Given the description of an element on the screen output the (x, y) to click on. 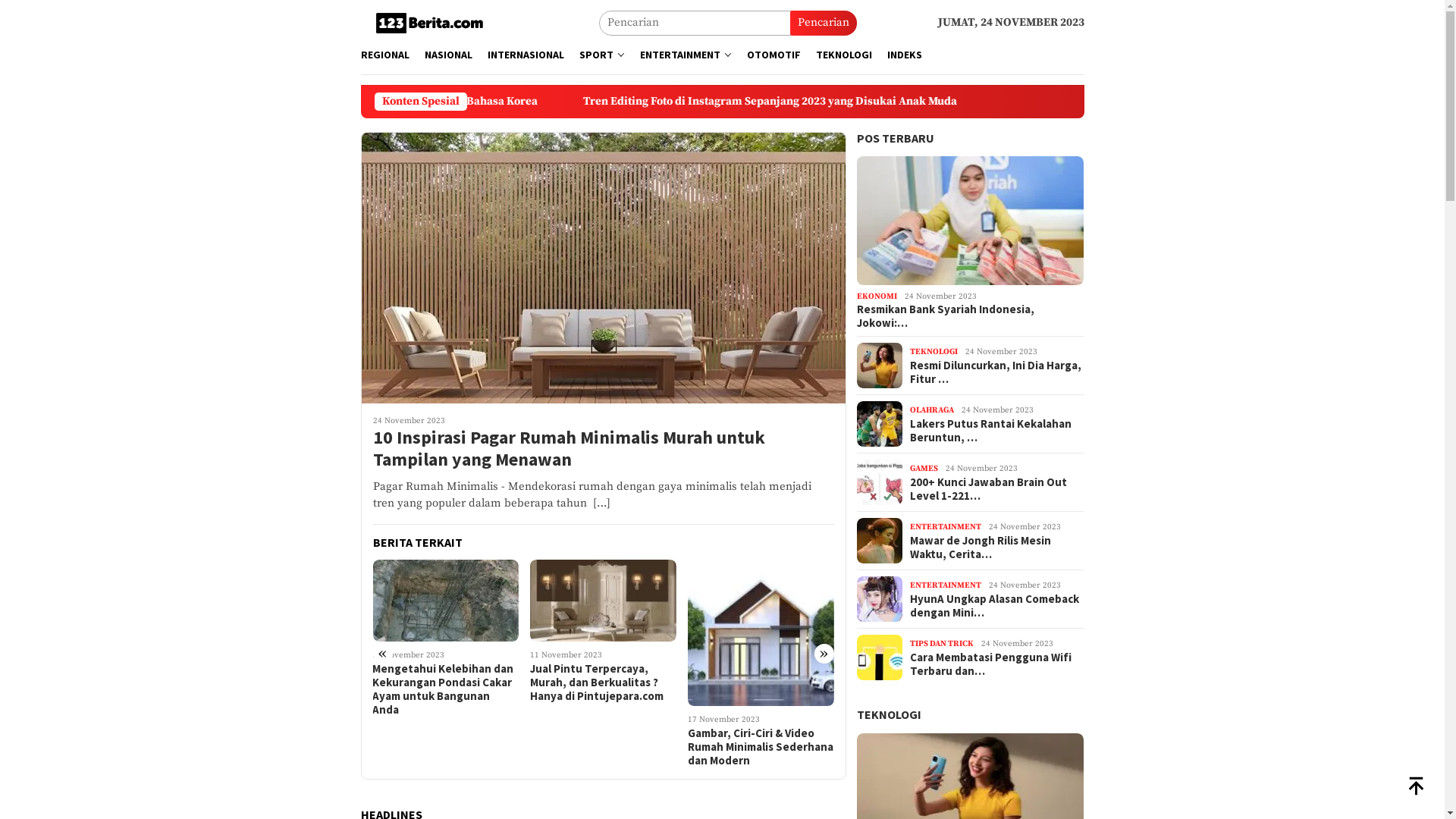
GAMES Element type: text (924, 468)
123Berita Element type: hover (431, 22)
EKONOMI Element type: text (876, 296)
Hyuna_Ungu Element type: hover (879, 598)
OTOMOTIF Element type: text (772, 53)
OLAHRAGA Element type: text (931, 409)
INDEKS Element type: text (904, 53)
TEKNOLOGI Element type: text (888, 713)
EtA4cV8W8AEuclp Element type: hover (879, 423)
TIPS DAN TRICK Element type: text (941, 643)
123Berita Element type: hover (431, 23)
Kunci Jawaban Brain Out Level 1-221 Terbaru & Terupdate 2021 Element type: hover (879, 482)
500+ Kosakata Bahasa Korea dan Artinya Element type: text (743, 100)
TEKNOLOGI Element type: text (933, 351)
7 Cara Mengucapkan Terima Kasih Dalam Bahasa Korea Element type: text (1039, 100)
Pencarian Element type: text (823, 22)
TEKNOLOGI Element type: text (843, 53)
ENTERTAINMENT Element type: text (685, 53)
ENTERTAINMENT Element type: text (945, 585)
ENTERTAINMENT Element type: text (945, 526)
NASIONAL Element type: text (448, 53)
POS TERBARU Element type: text (895, 137)
Cara Membatasi Pengguna Wifi Terbaru dan Mudah Element type: hover (879, 657)
Oppo_A15s_model Element type: hover (879, 365)
SPORT Element type: text (601, 53)
REGIONAL Element type: text (385, 53)
Mawar-de-jongh_1 Element type: hover (879, 540)
INTERNASIONAL Element type: text (525, 53)
